Given the description of an element on the screen output the (x, y) to click on. 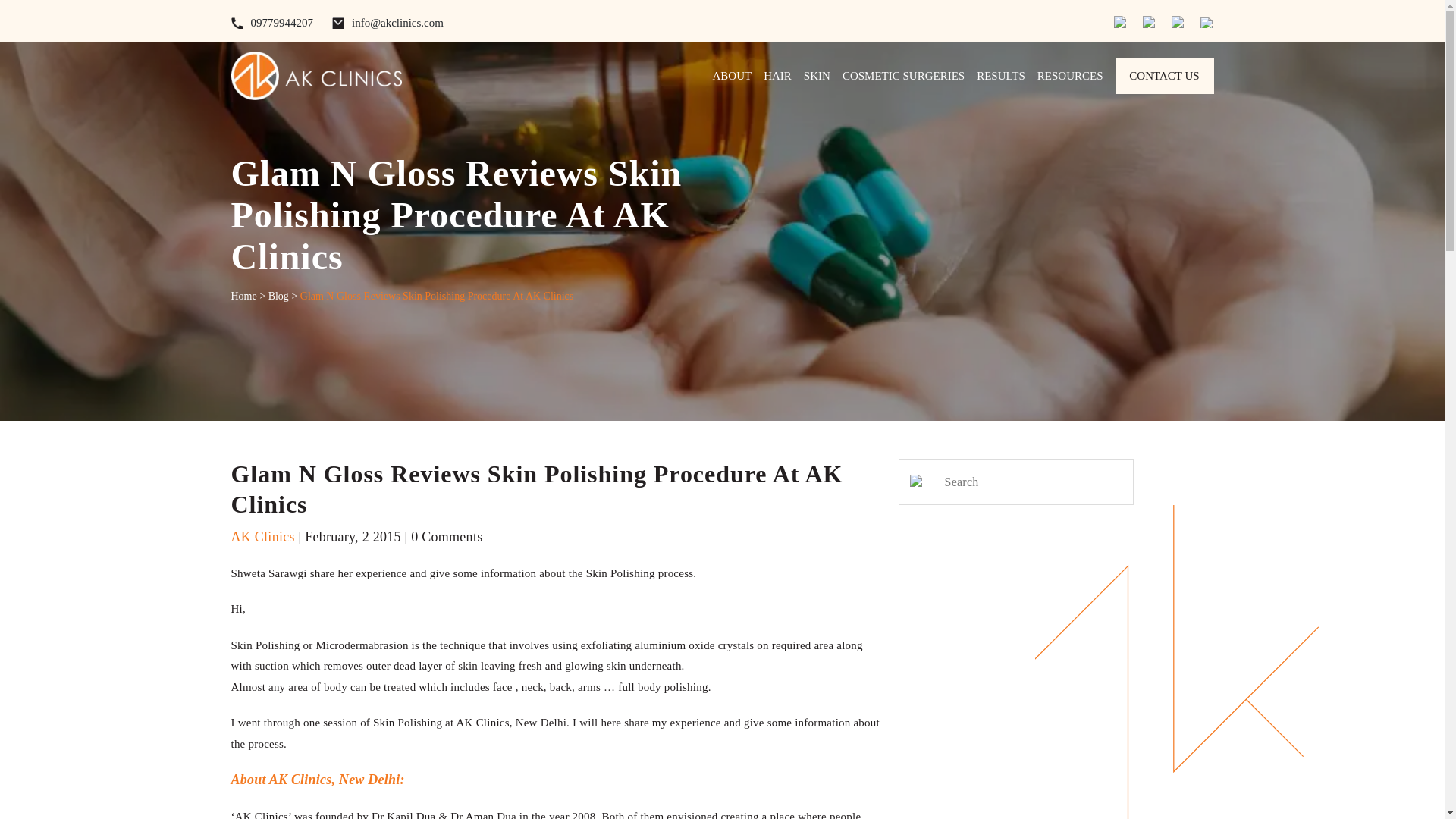
HAIR (777, 76)
SKIN (816, 76)
ABOUT (732, 76)
